Given the description of an element on the screen output the (x, y) to click on. 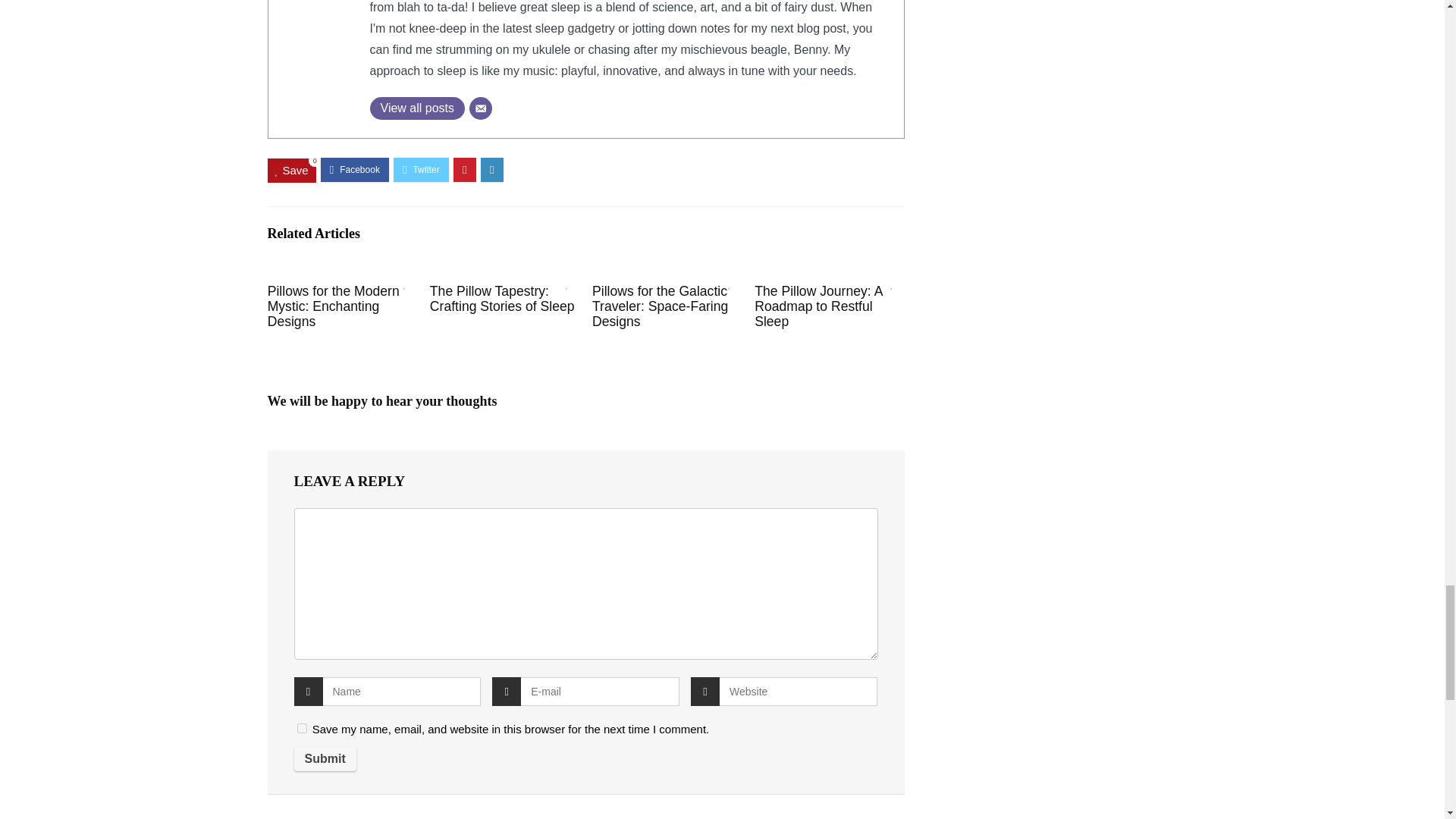
Submit (325, 758)
yes (302, 728)
View all posts (417, 108)
